Given the description of an element on the screen output the (x, y) to click on. 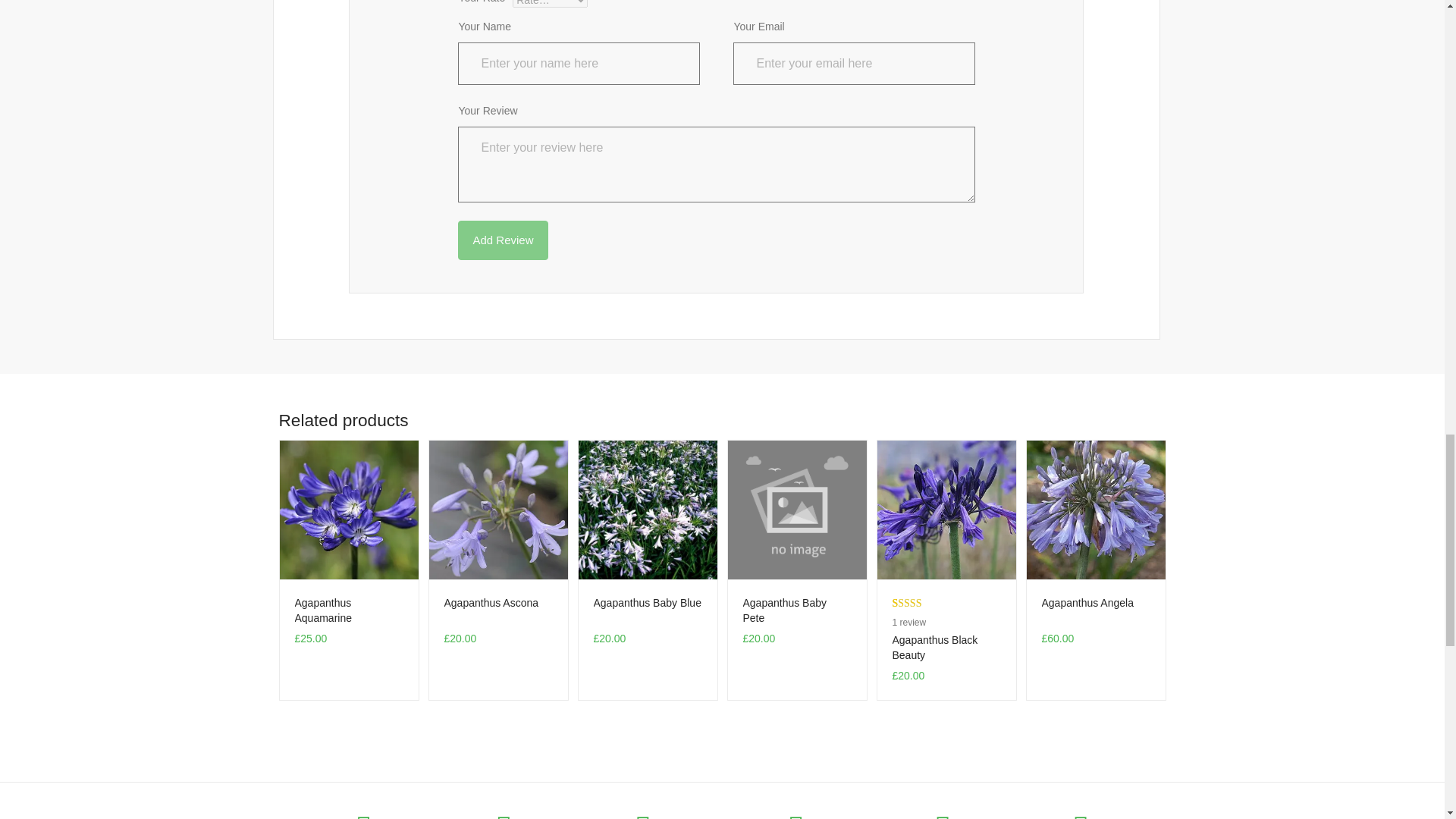
Add Review (502, 240)
